Given the description of an element on the screen output the (x, y) to click on. 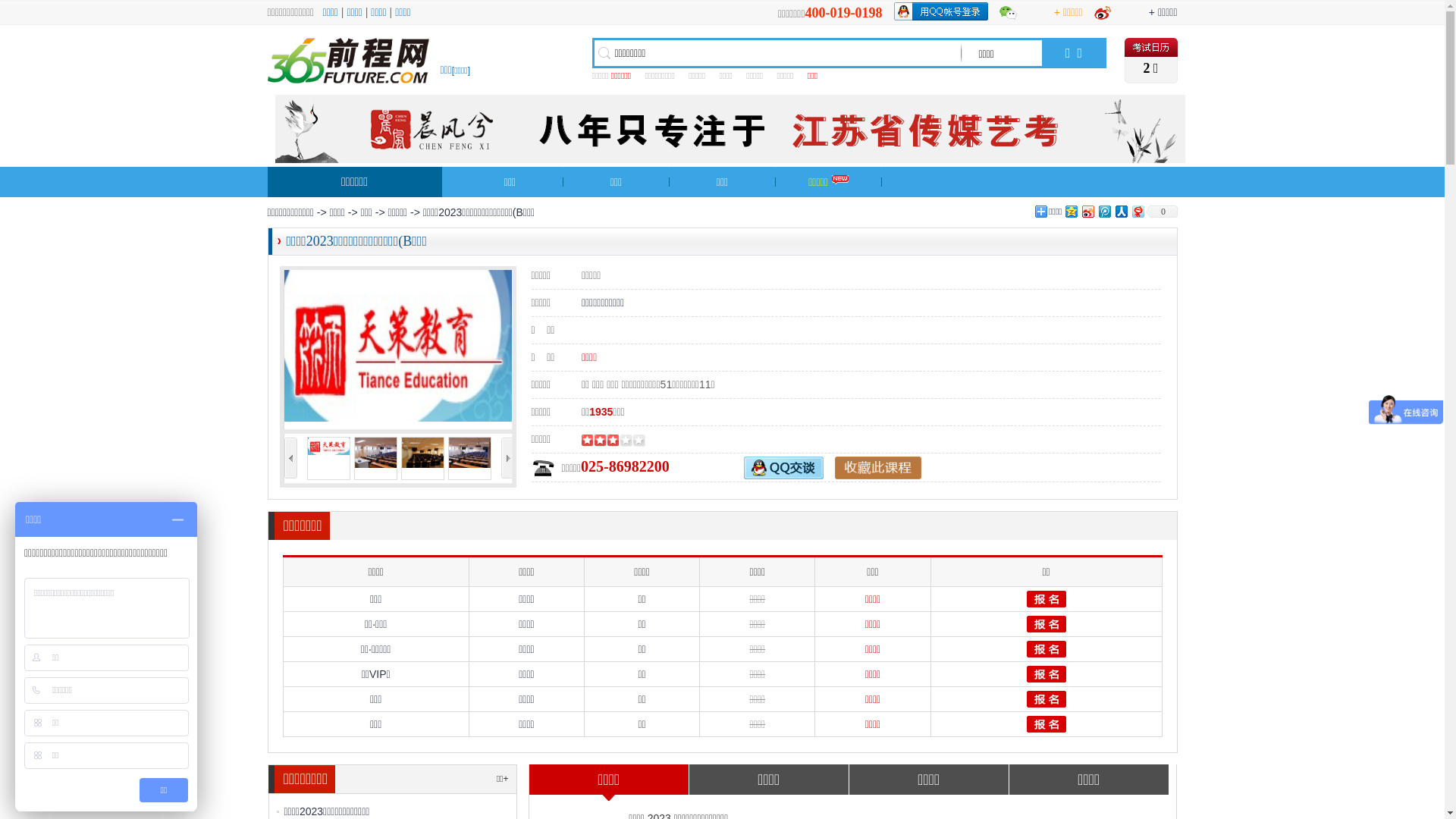
0 Element type: text (1160, 211)
< Element type: text (289, 458)
> Element type: text (506, 458)
